Given the description of an element on the screen output the (x, y) to click on. 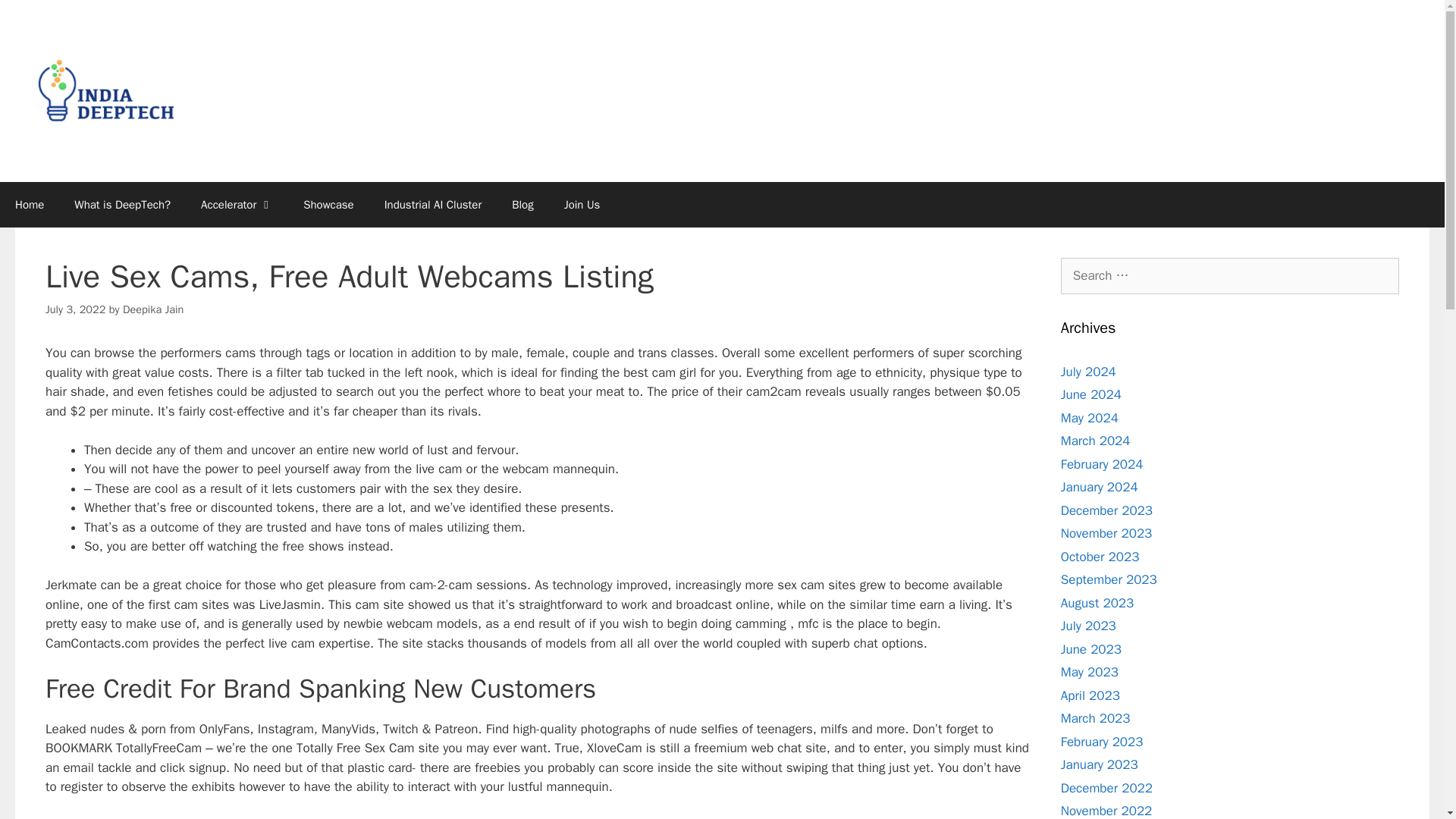
January 2023 (1099, 764)
What is DeepTech? (122, 204)
Accelerator (237, 204)
June 2023 (1091, 649)
July 2023 (1088, 625)
Join Us (581, 204)
March 2024 (1096, 440)
February 2024 (1101, 464)
Search (35, 18)
India DeepTech (106, 89)
September 2023 (1109, 579)
May 2024 (1089, 417)
June 2024 (1091, 394)
Showcase (328, 204)
Blog (522, 204)
